Given the description of an element on the screen output the (x, y) to click on. 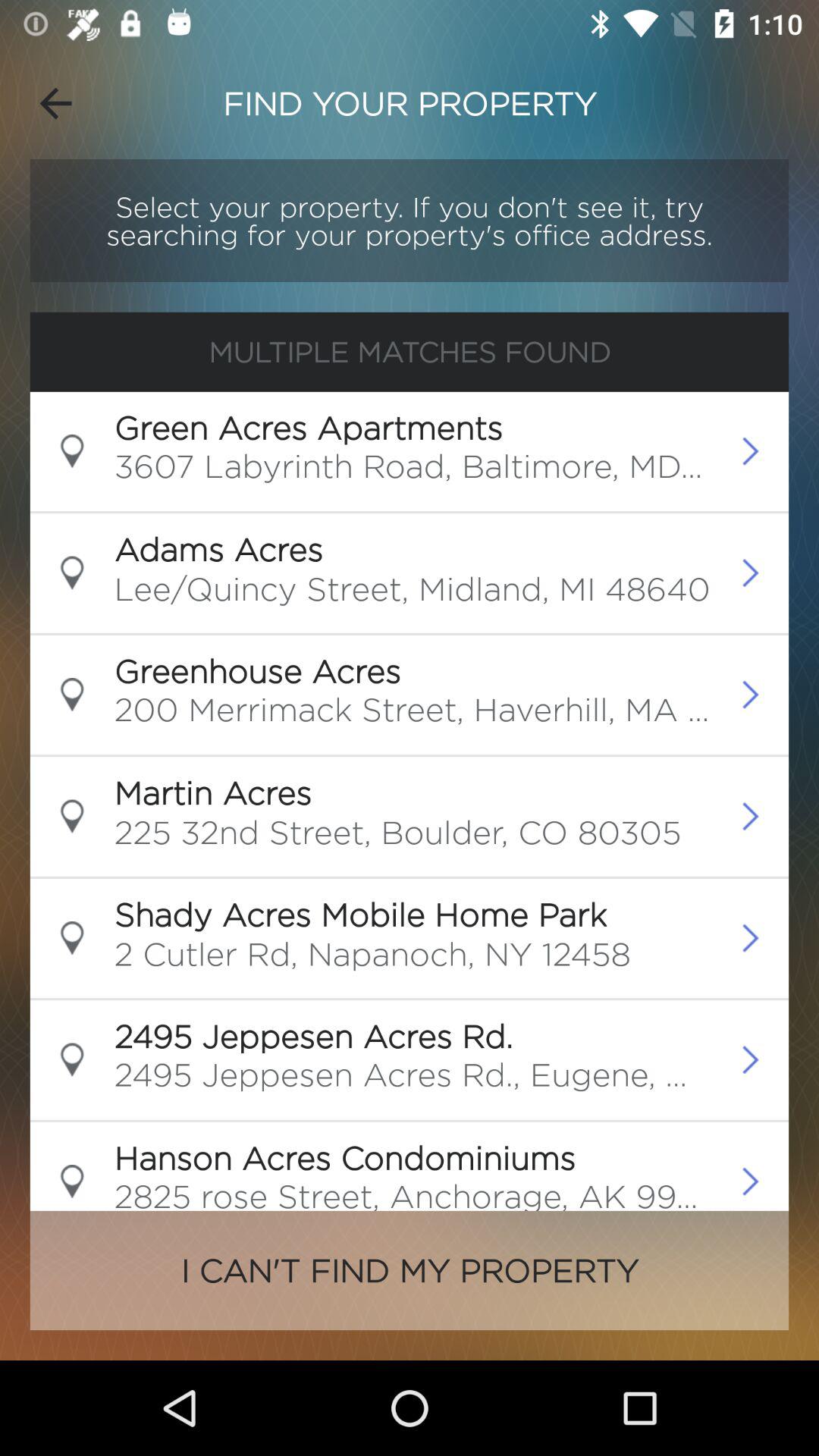
swipe until adams acres (218, 548)
